Given the description of an element on the screen output the (x, y) to click on. 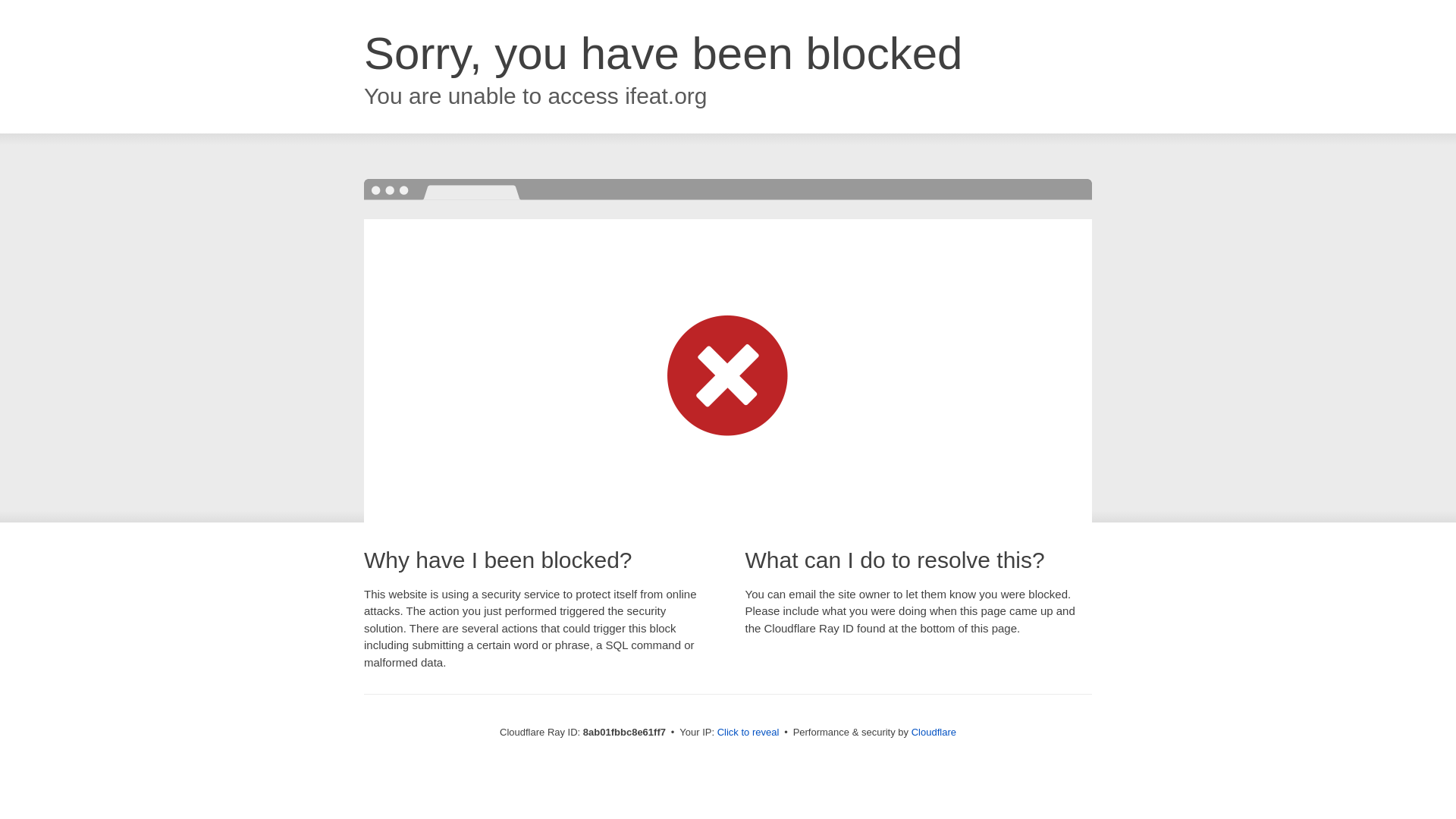
Cloudflare (933, 731)
Click to reveal (747, 732)
